Given the description of an element on the screen output the (x, y) to click on. 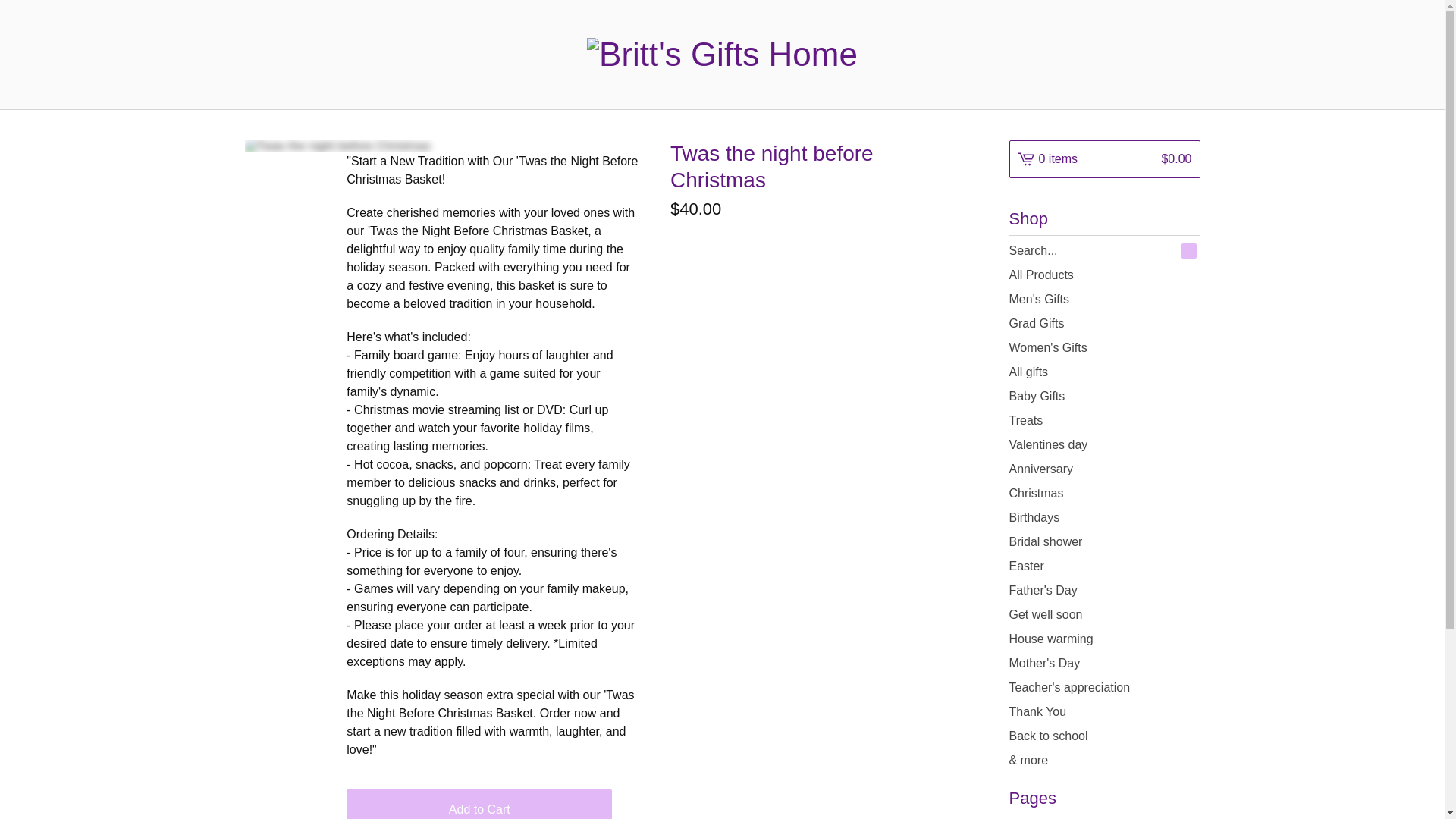
Bridal shower (1104, 541)
Anniversary (1104, 469)
View Grad Gifts (1104, 323)
House warming (1104, 639)
Birthdays (1104, 517)
Christmas (1104, 493)
View Women's Gifts (1104, 347)
Thank You (1104, 711)
View Father's Day (1104, 590)
